Given the description of an element on the screen output the (x, y) to click on. 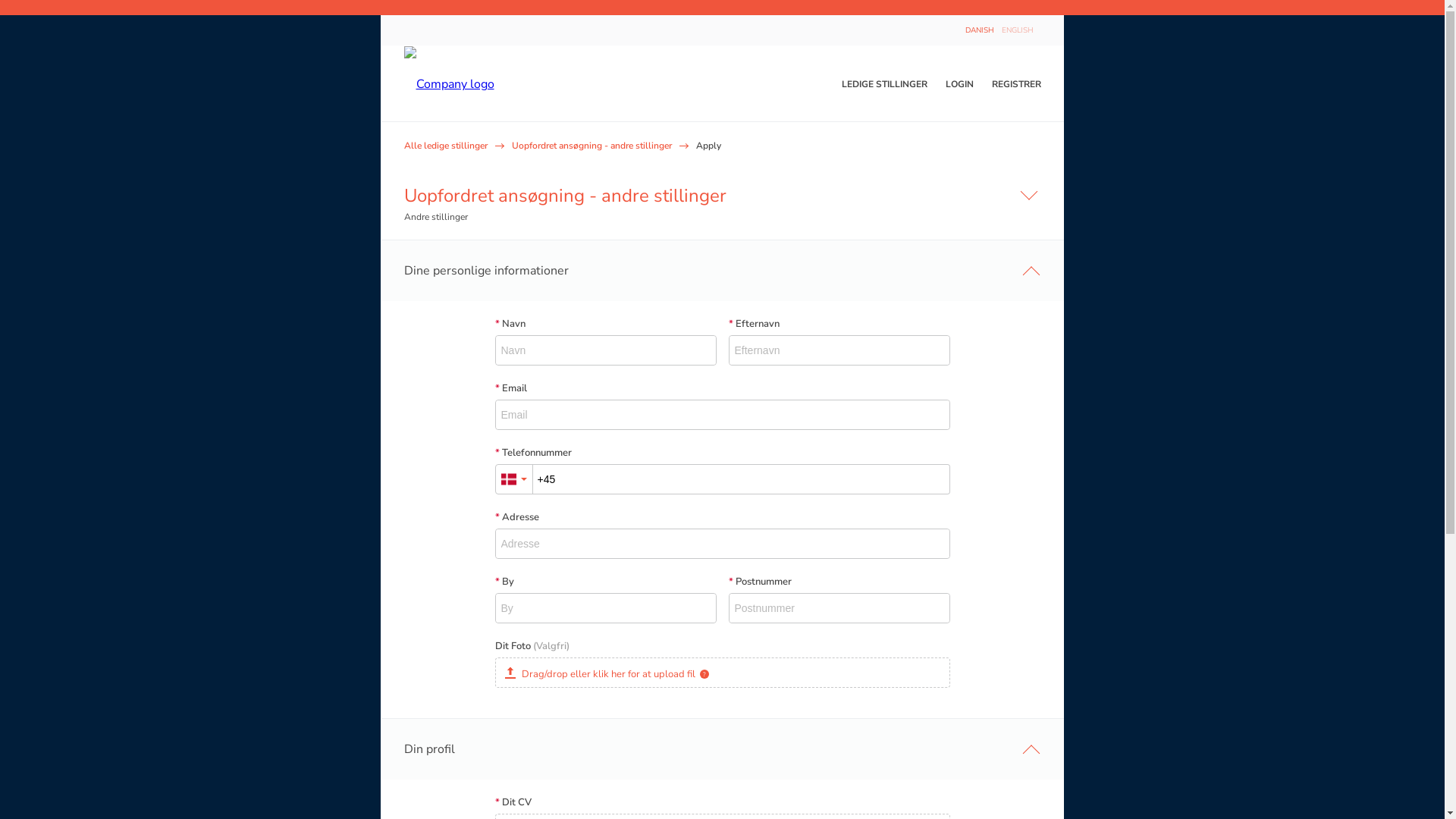
LEDIGE STILLINGER Element type: text (884, 84)
Alle ledige stillinger Element type: text (444, 145)
REGISTRER Element type: text (1011, 84)
LOGIN Element type: text (958, 84)
